Given the description of an element on the screen output the (x, y) to click on. 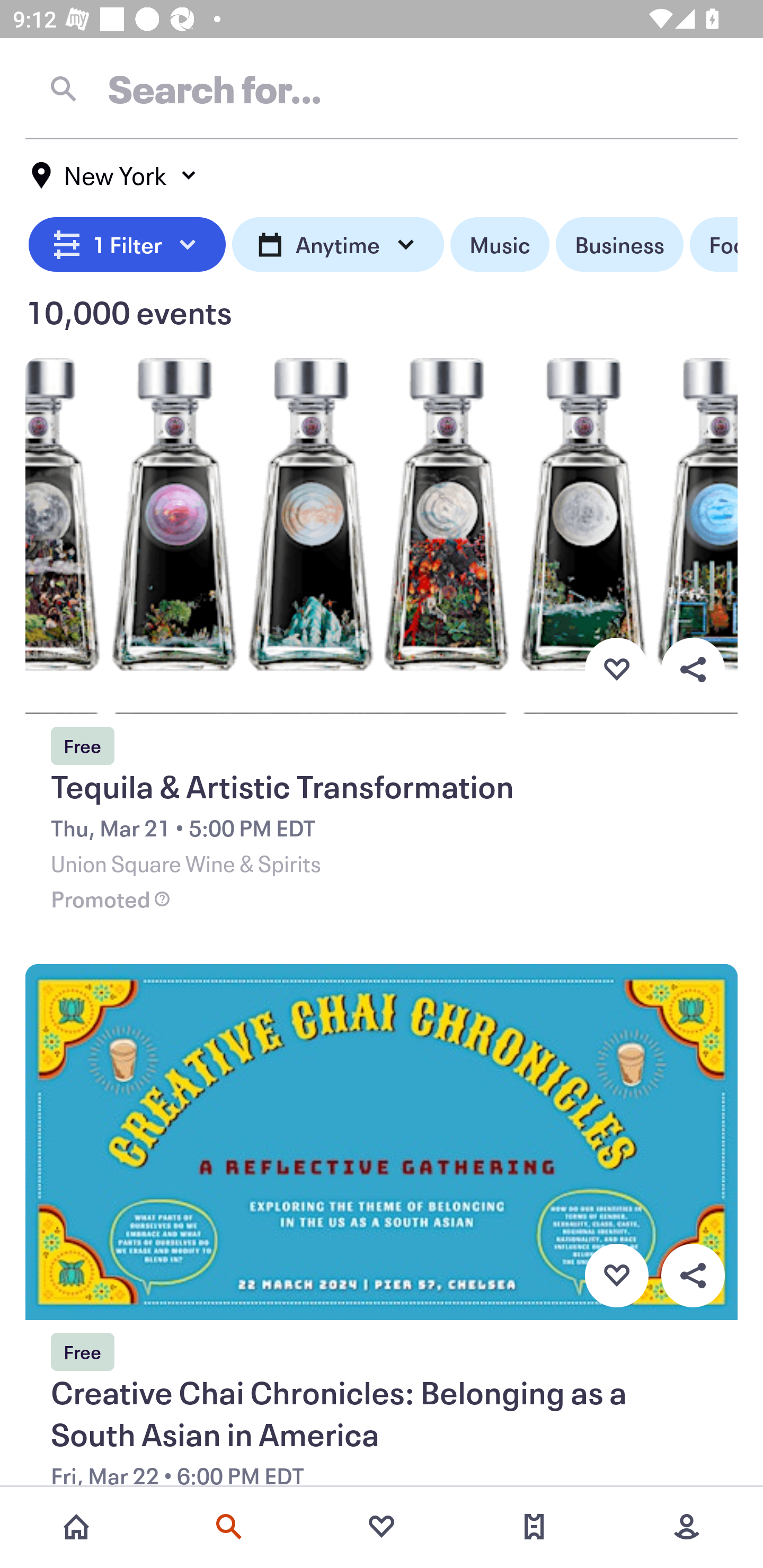
Search for… (381, 88)
New York (114, 175)
1 Filter (126, 244)
Anytime (337, 244)
Music (499, 244)
Business (619, 244)
Favorite button (616, 669)
Overflow menu button (692, 669)
Favorite button (616, 1275)
Overflow menu button (692, 1275)
Home (76, 1526)
Search events (228, 1526)
Favorites (381, 1526)
Tickets (533, 1526)
More (686, 1526)
